Given the description of an element on the screen output the (x, y) to click on. 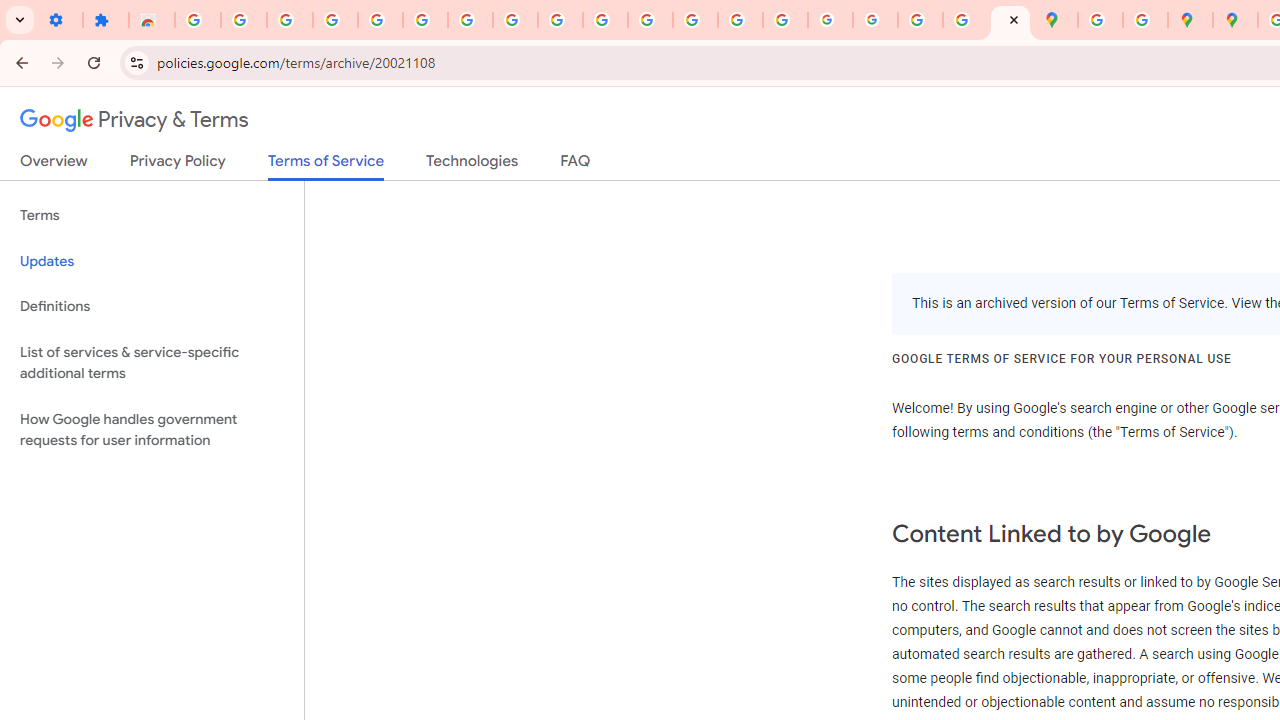
Reviews: Helix Fruit Jump Arcade Game (152, 20)
